Given the description of an element on the screen output the (x, y) to click on. 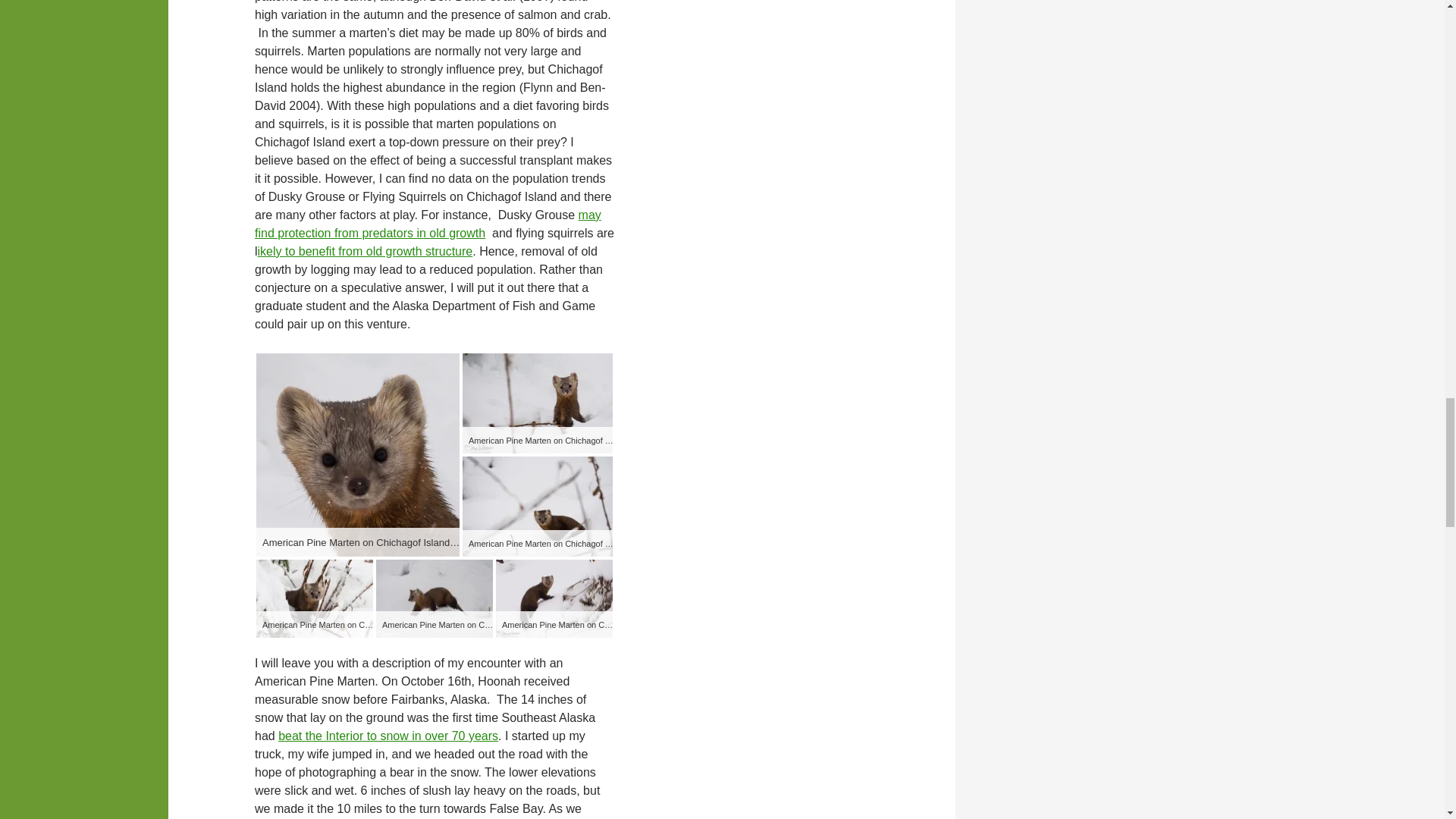
ikely to benefit from old growth structure (365, 250)
may find protection from predators in old growth (427, 223)
beat the Interior to snow in over 70 years (387, 735)
